Given the description of an element on the screen output the (x, y) to click on. 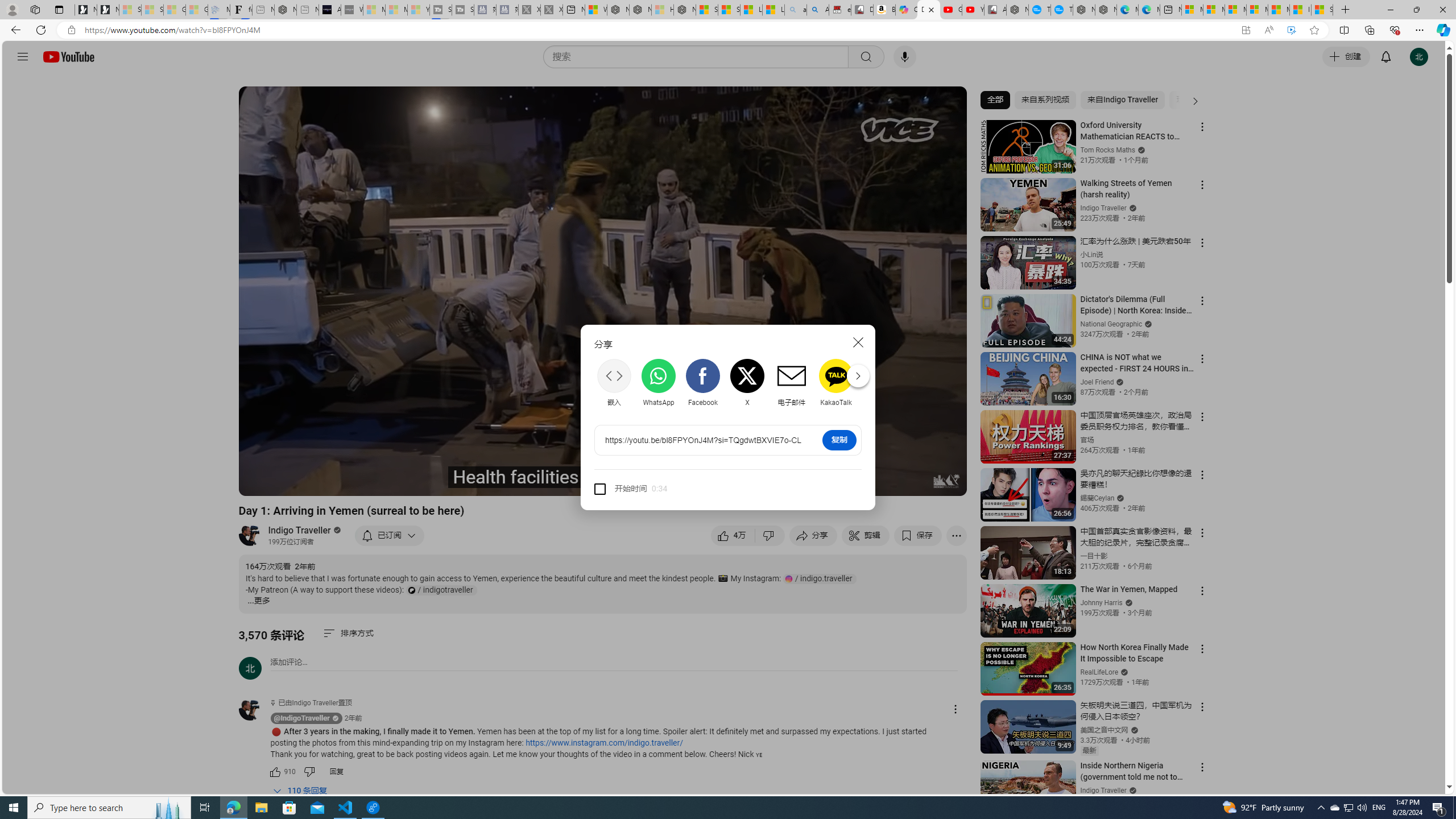
Amazon Echo Dot PNG - Search Images (818, 9)
